Given the description of an element on the screen output the (x, y) to click on. 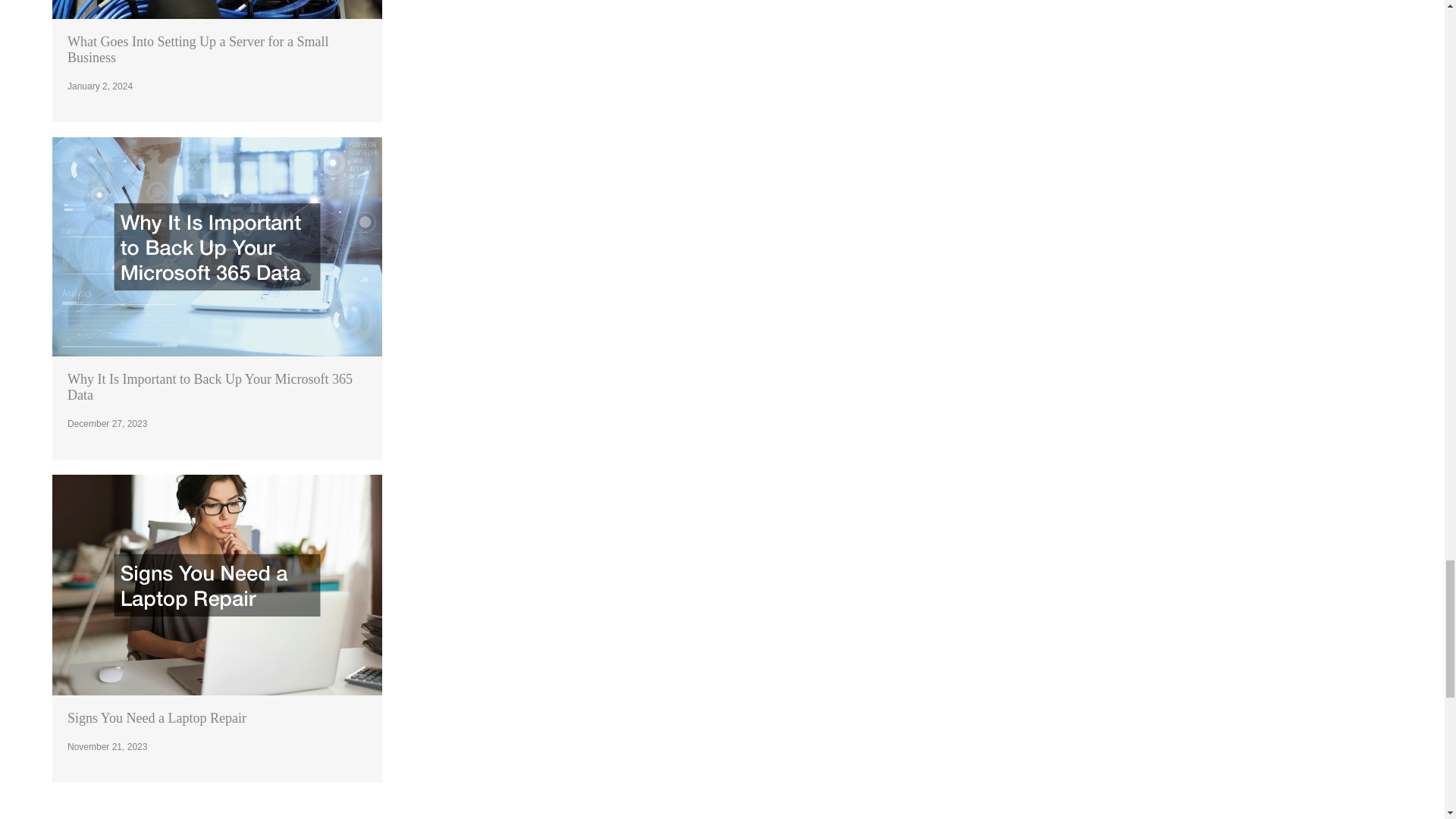
Why It Is Important to Back Up Your Microsoft 365 Data (209, 386)
Signs You Need a Laptop Repair (156, 717)
What Goes Into Setting Up a Server for a Small Business (197, 49)
